Given the description of an element on the screen output the (x, y) to click on. 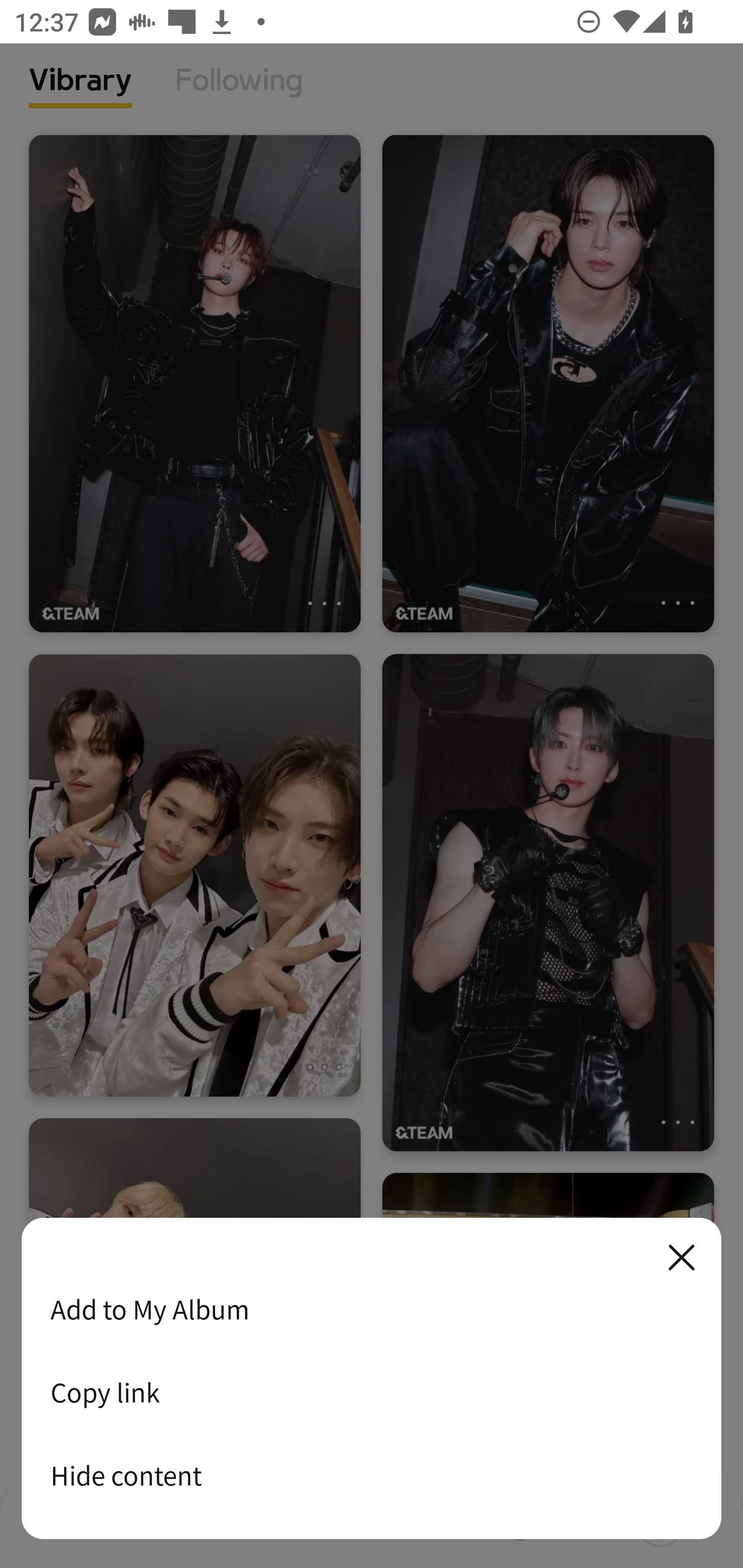
Add to My Album Copy link Hide content (371, 1378)
Add to My Album (371, 1308)
Copy link (371, 1391)
Hide content (371, 1474)
